Given the description of an element on the screen output the (x, y) to click on. 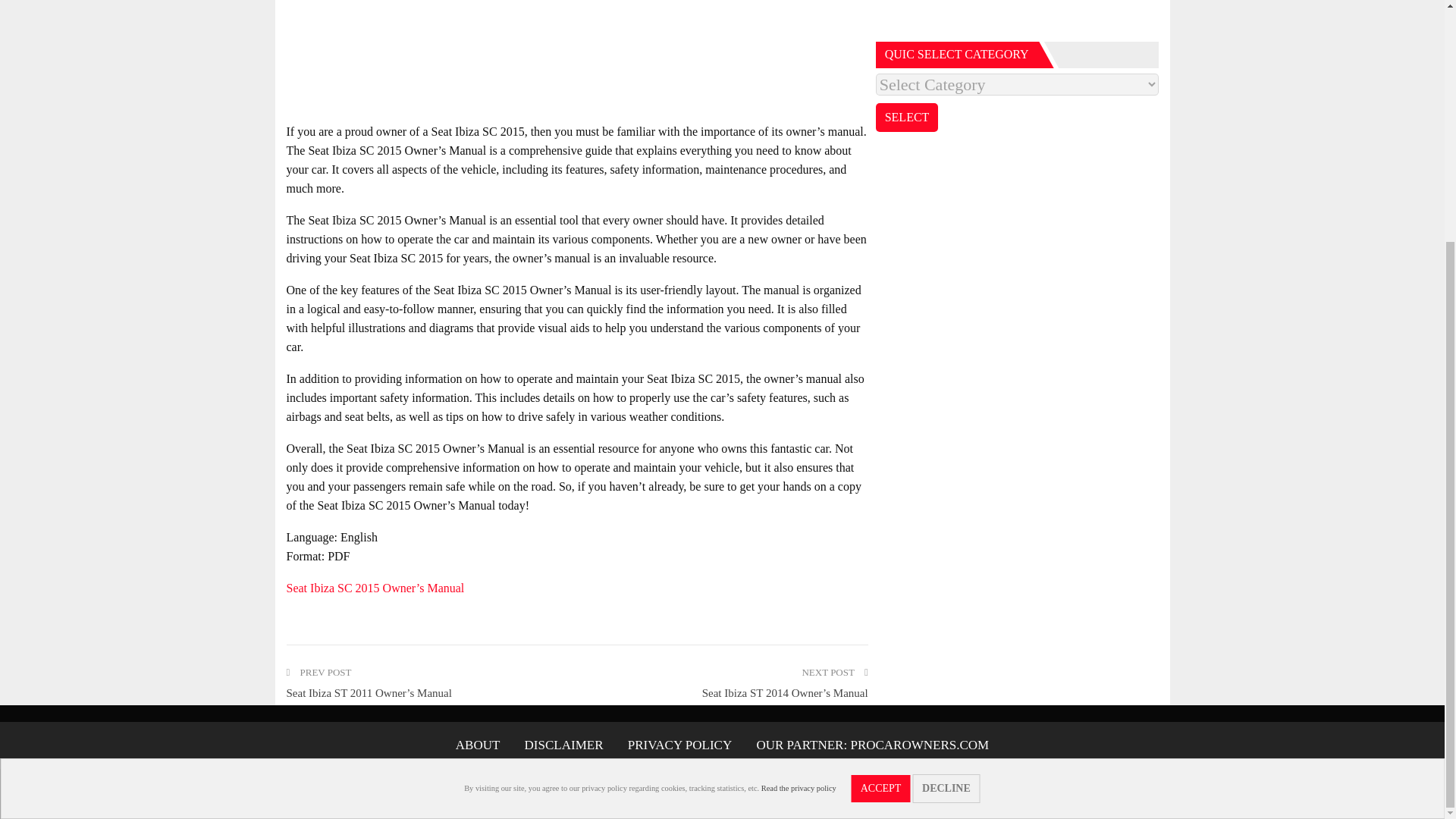
Read the privacy policy (798, 454)
Advertisement (576, 56)
DECLINE (945, 454)
ACCEPT (881, 454)
SELECT (907, 117)
Advertisement (1017, 17)
ABOUT (477, 744)
